Given the description of an element on the screen output the (x, y) to click on. 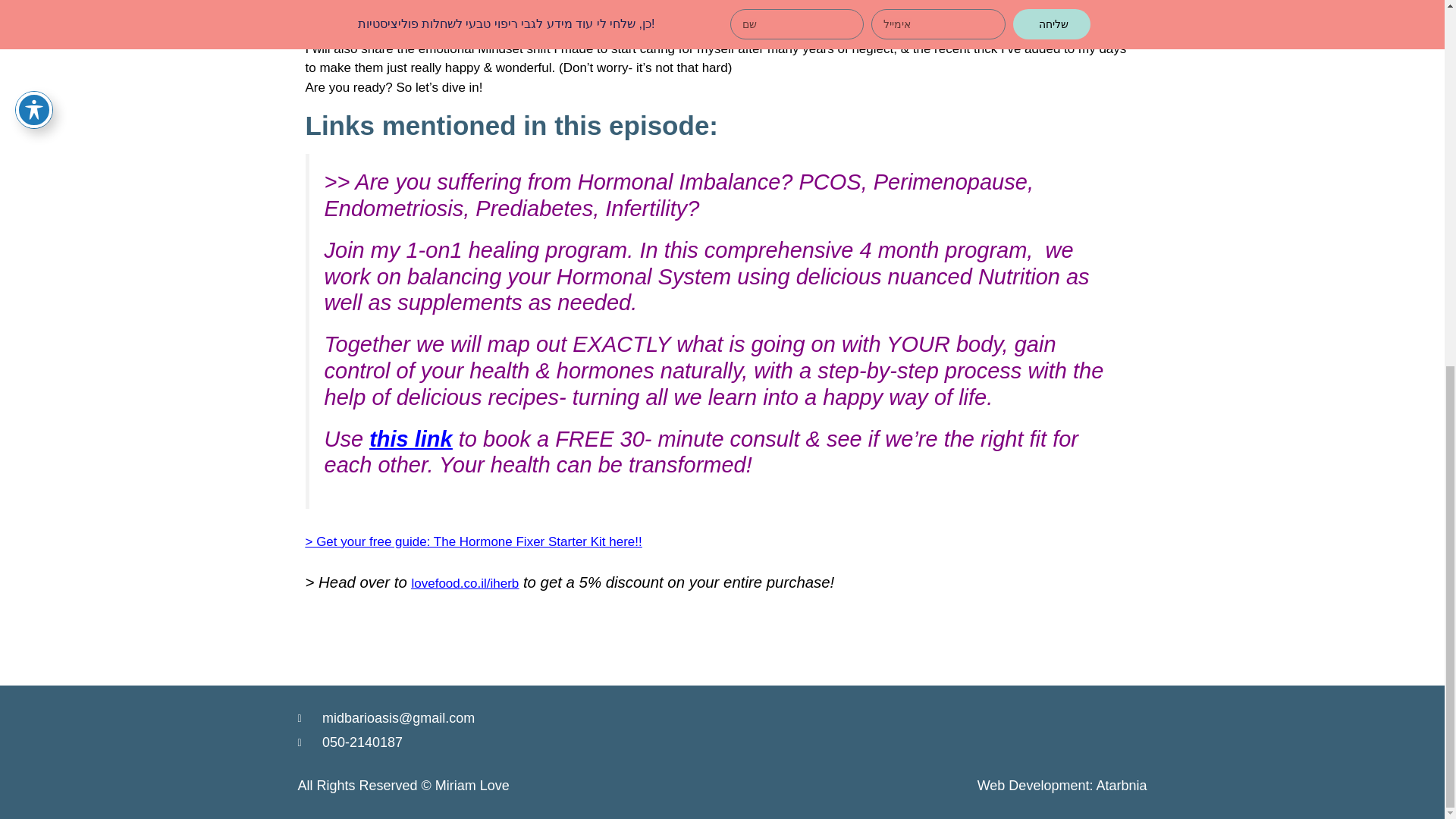
this link (410, 438)
Atarbnia (1121, 785)
050-2140187 (505, 742)
